Given the description of an element on the screen output the (x, y) to click on. 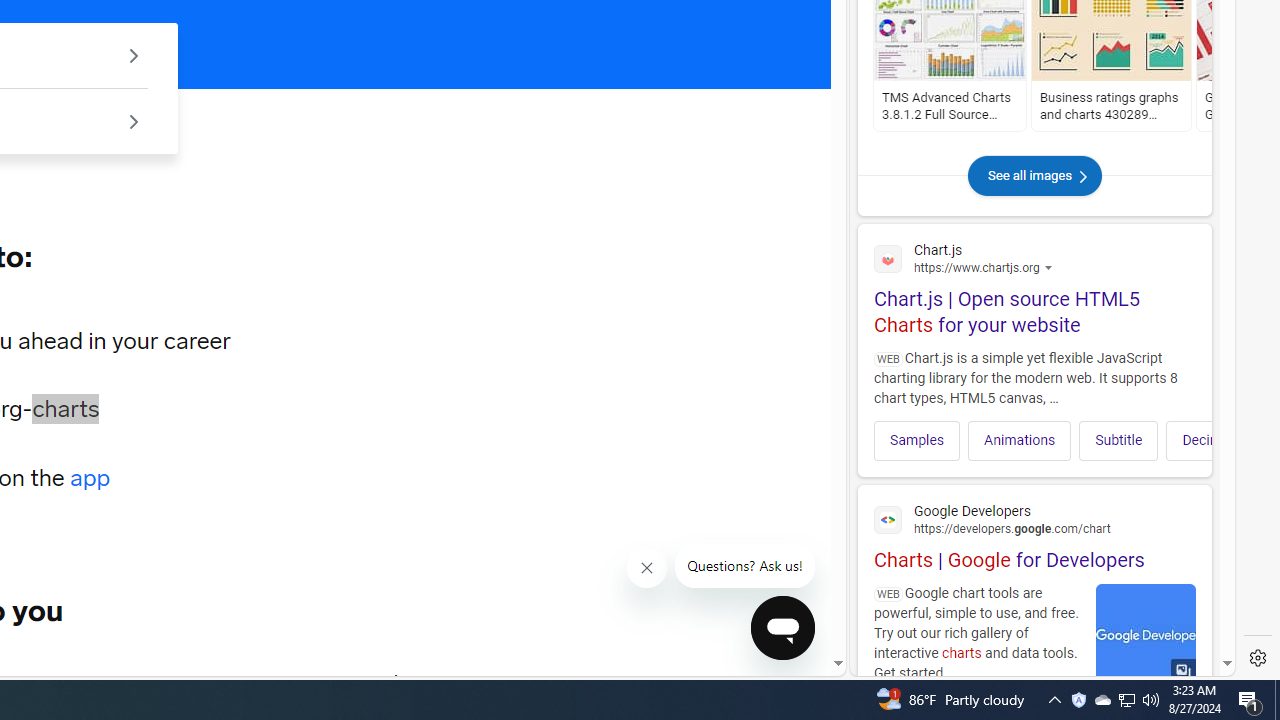
Charts | Google for Developers (1034, 534)
TMS Advanced Charts 3.8.1.2 Full Source D6~XE7 (949, 106)
See group offers (133, 120)
